Given the description of an element on the screen output the (x, y) to click on. 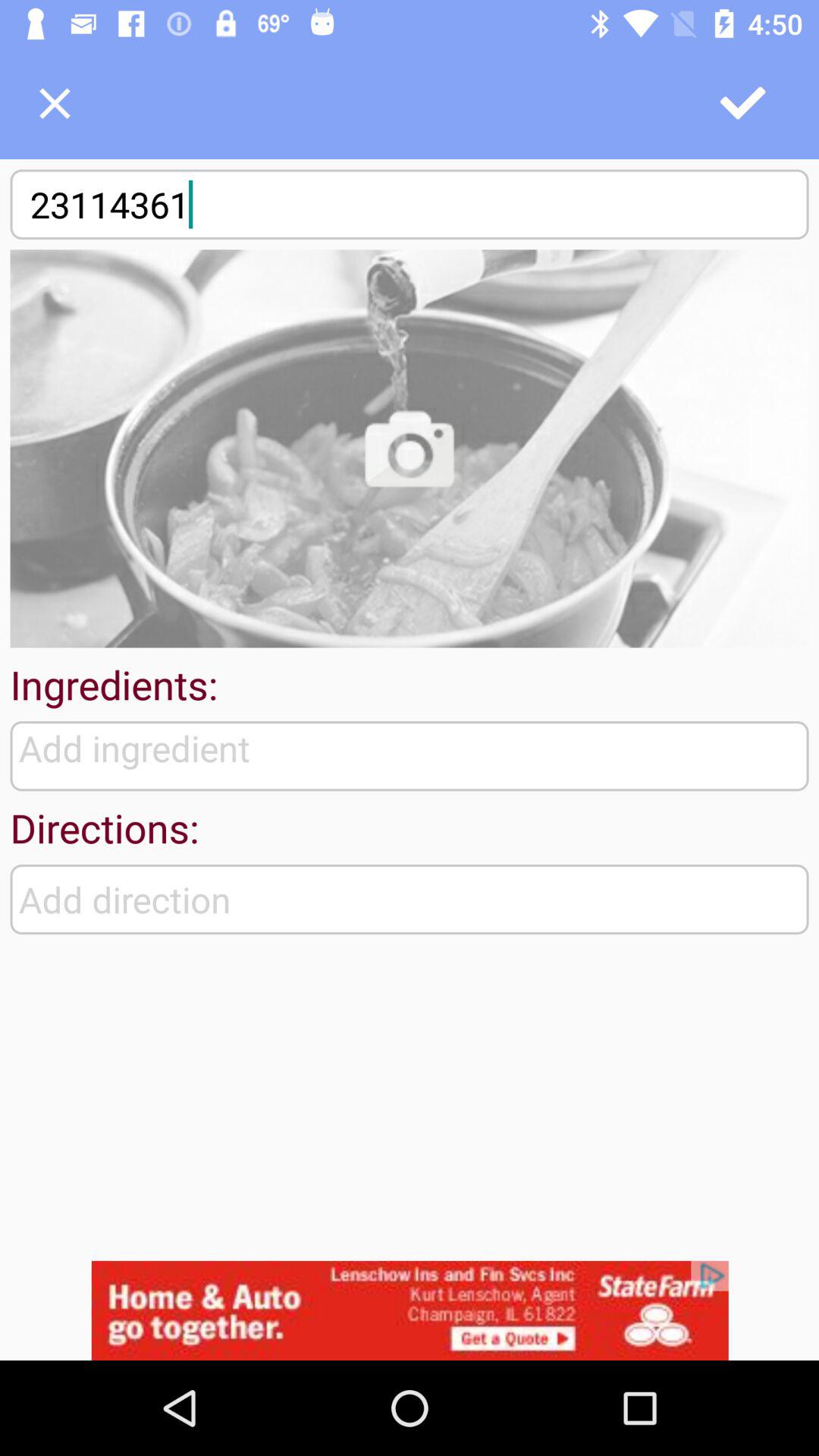
close dialogue box (54, 103)
